Given the description of an element on the screen output the (x, y) to click on. 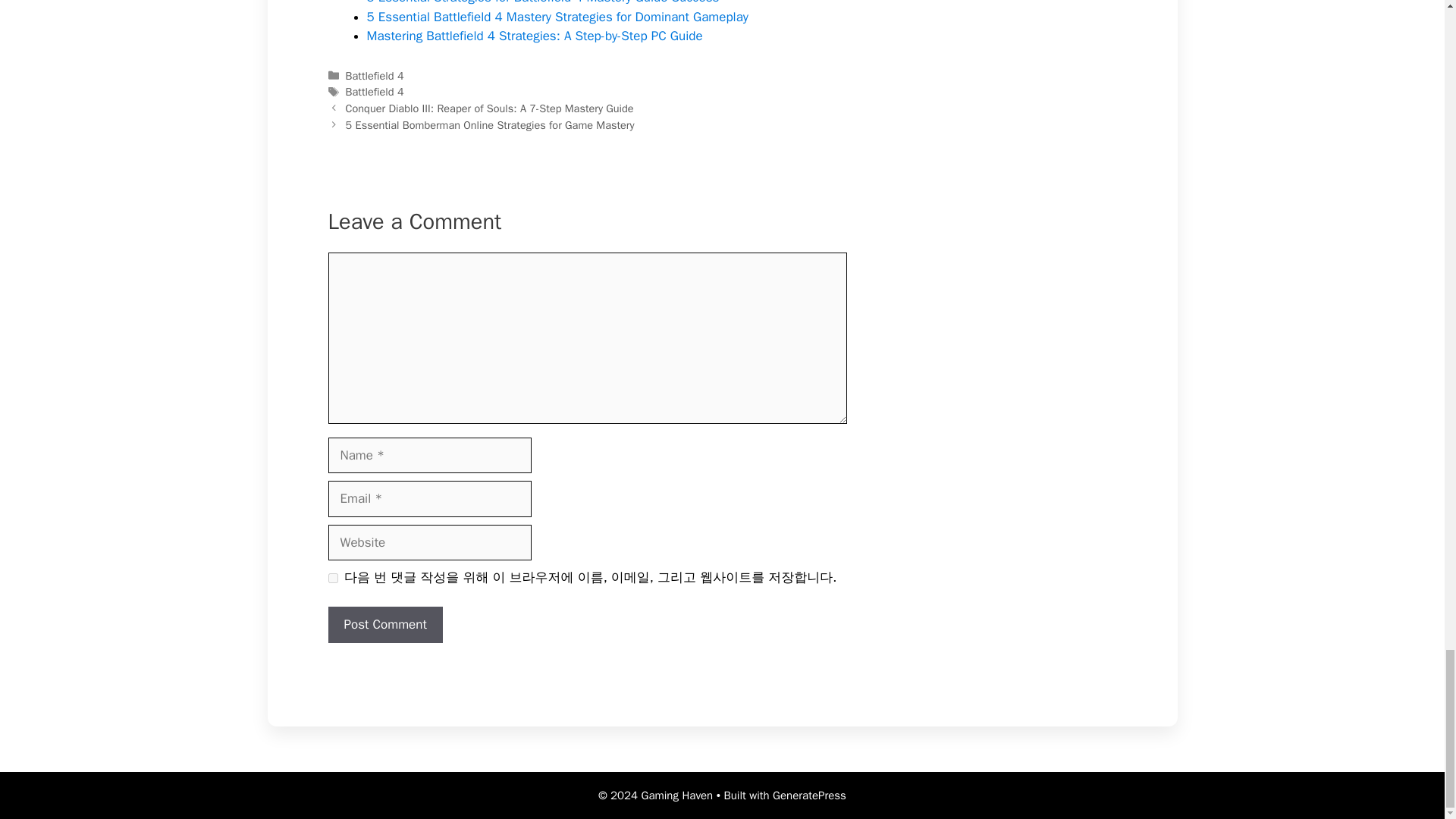
Mastering Battlefield 4 Strategies: A Step-by-Step PC Guide (534, 35)
Conquer Diablo III: Reaper of Souls: A 7-Step Mastery Guide (489, 108)
5 Essential Bomberman Online Strategies for Game Mastery (490, 124)
Post Comment (384, 624)
Battlefield 4 (375, 91)
Battlefield 4 (375, 75)
yes (332, 577)
Post Comment (384, 624)
